Given the description of an element on the screen output the (x, y) to click on. 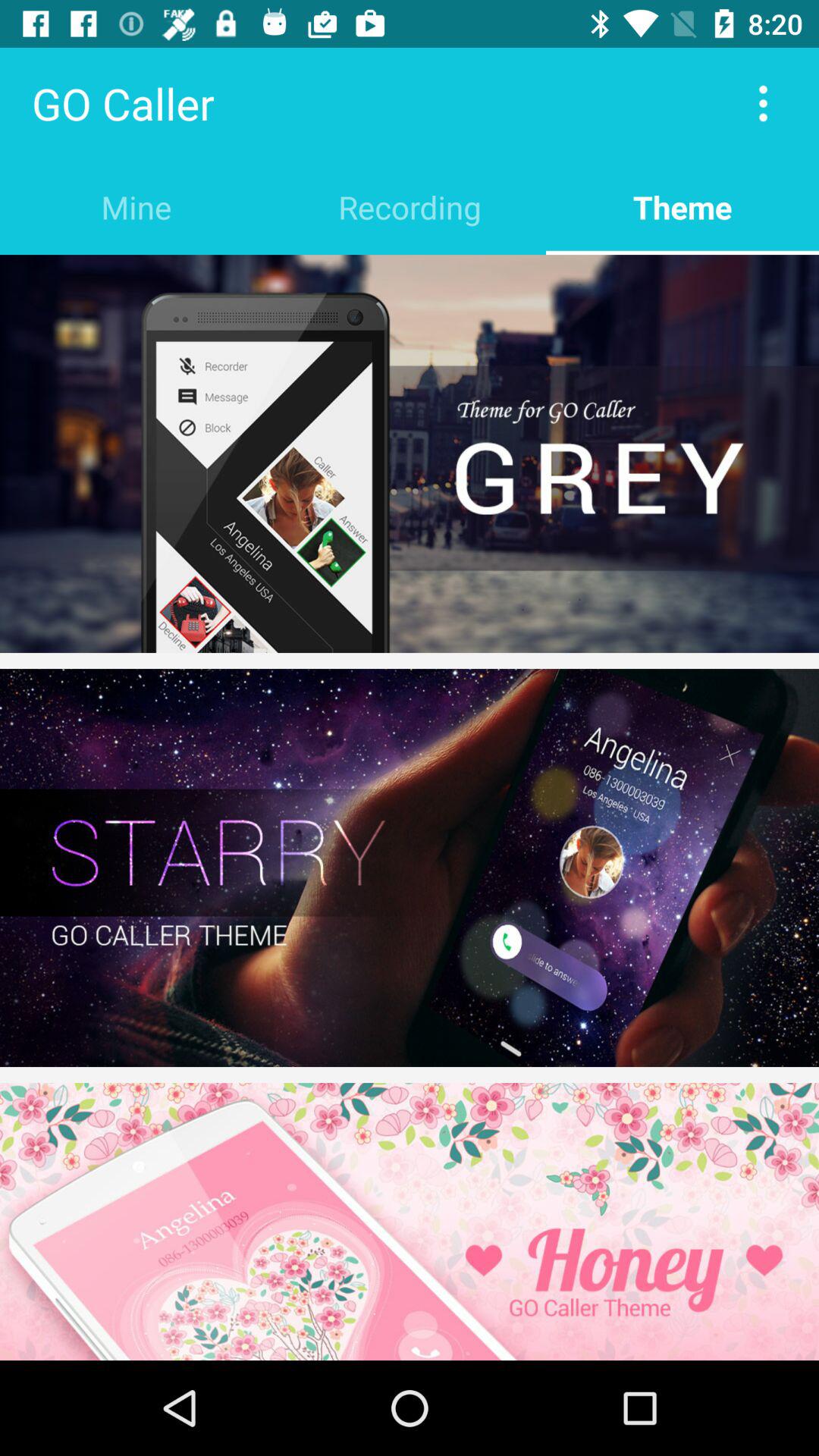
launch the item to the left of recording item (136, 206)
